Given the description of an element on the screen output the (x, y) to click on. 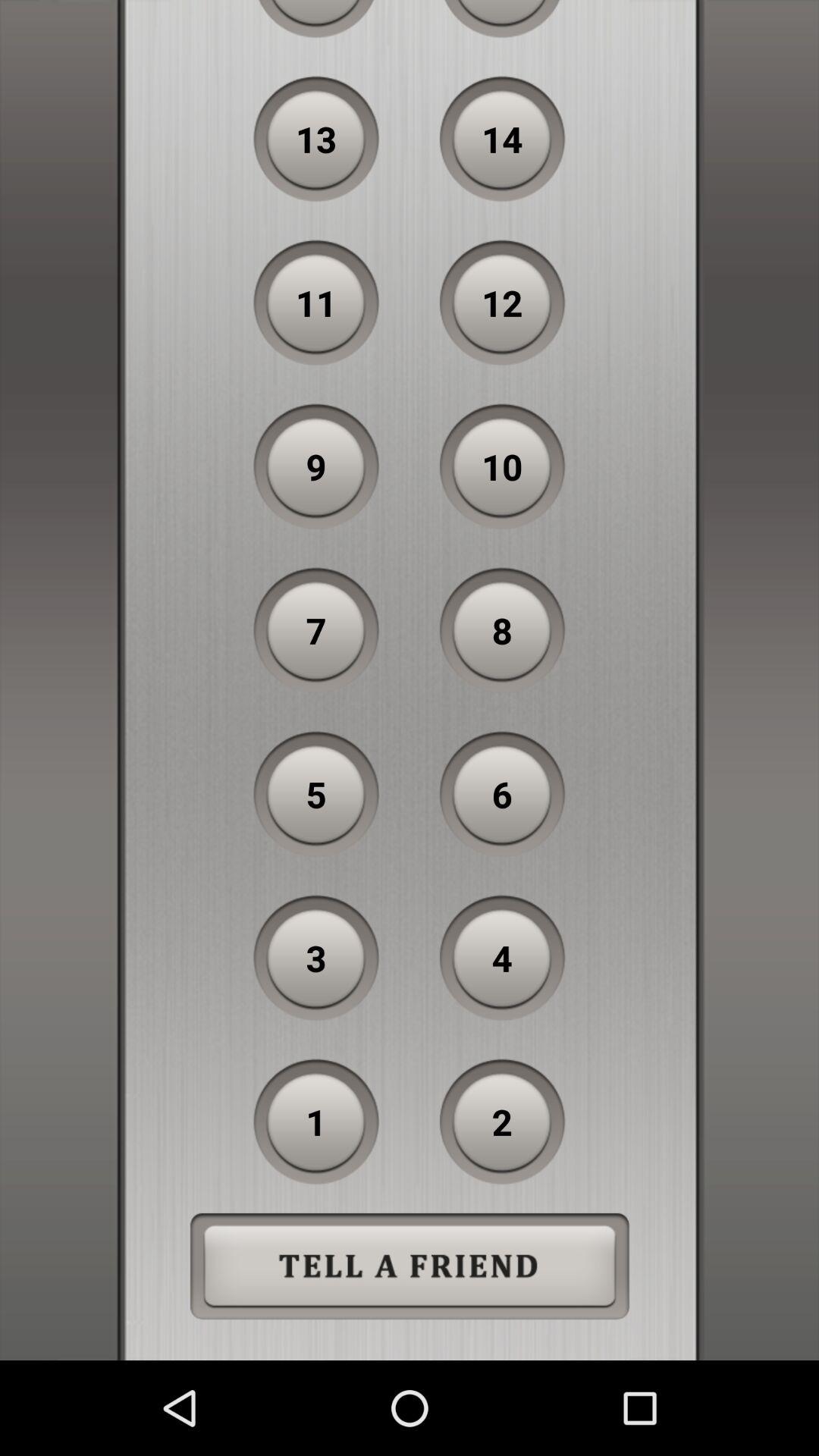
swipe to the 8 item (502, 630)
